Given the description of an element on the screen output the (x, y) to click on. 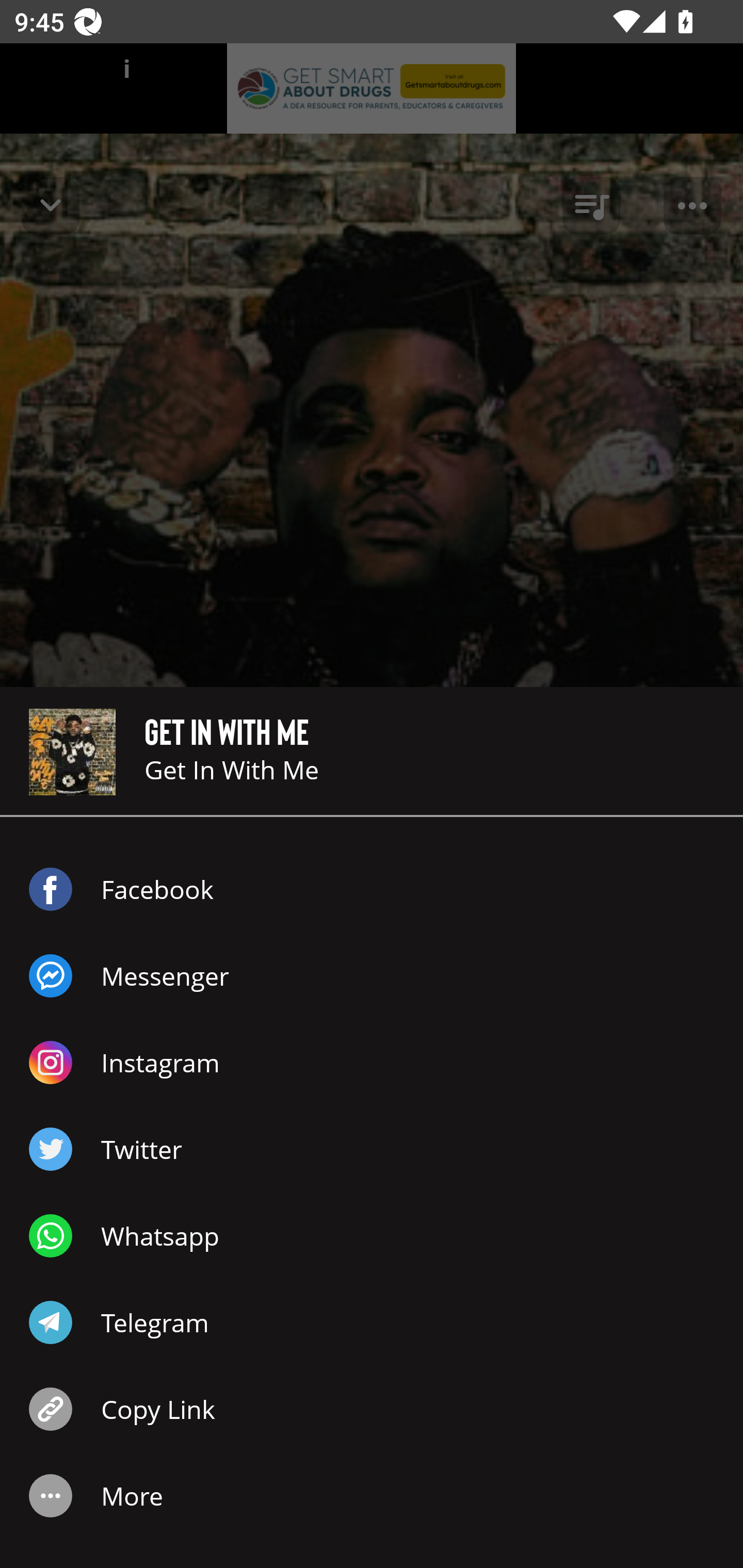
Facebook (371, 888)
Messenger (371, 975)
Instagram (371, 1062)
Twitter (371, 1149)
Whatsapp (371, 1236)
Telegram (371, 1322)
Copy Link (371, 1408)
More (371, 1495)
